Given the description of an element on the screen output the (x, y) to click on. 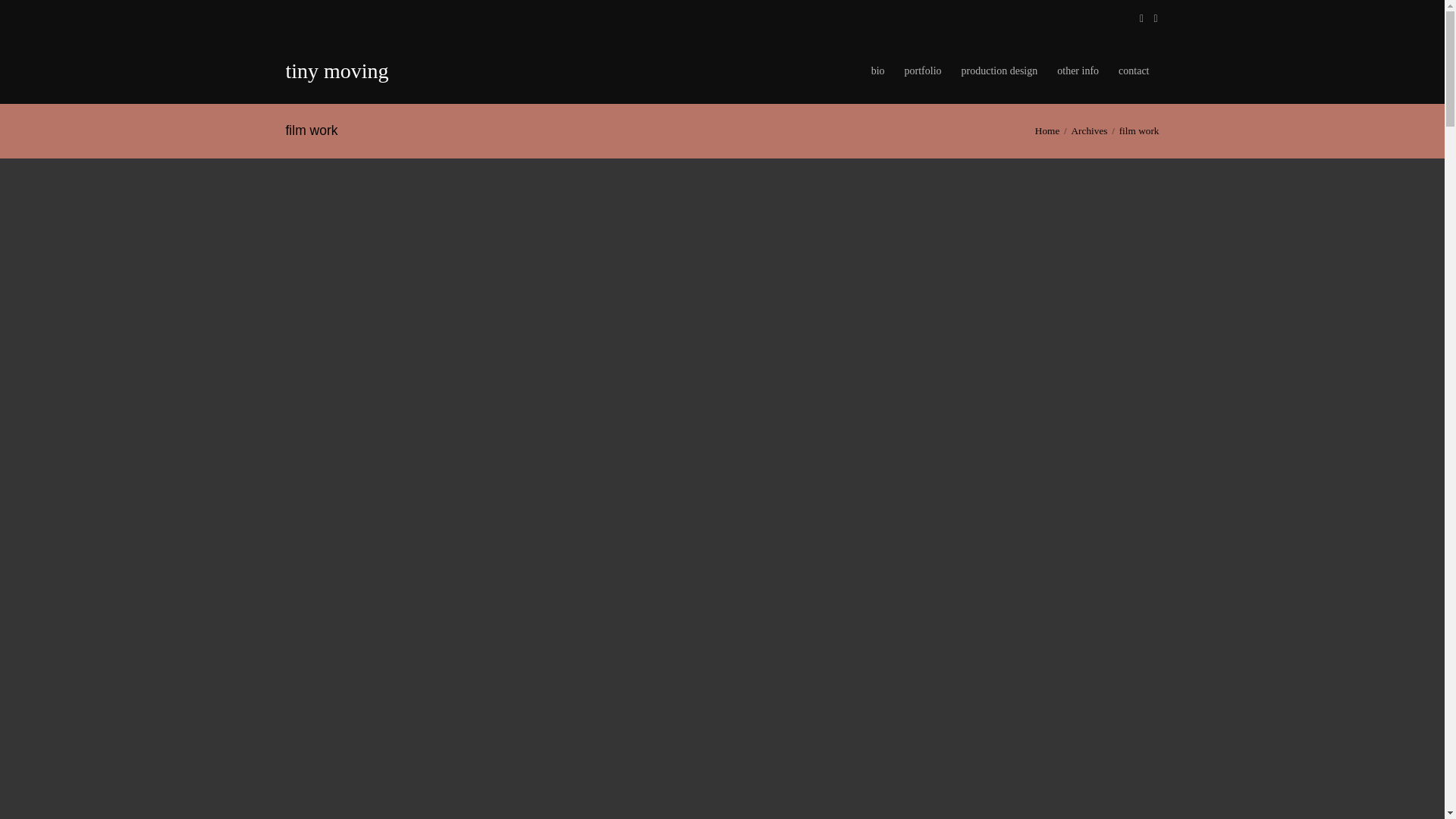
other info (1077, 70)
tiny moving pictures (353, 70)
production design (1000, 70)
Home (1047, 130)
